Given the description of an element on the screen output the (x, y) to click on. 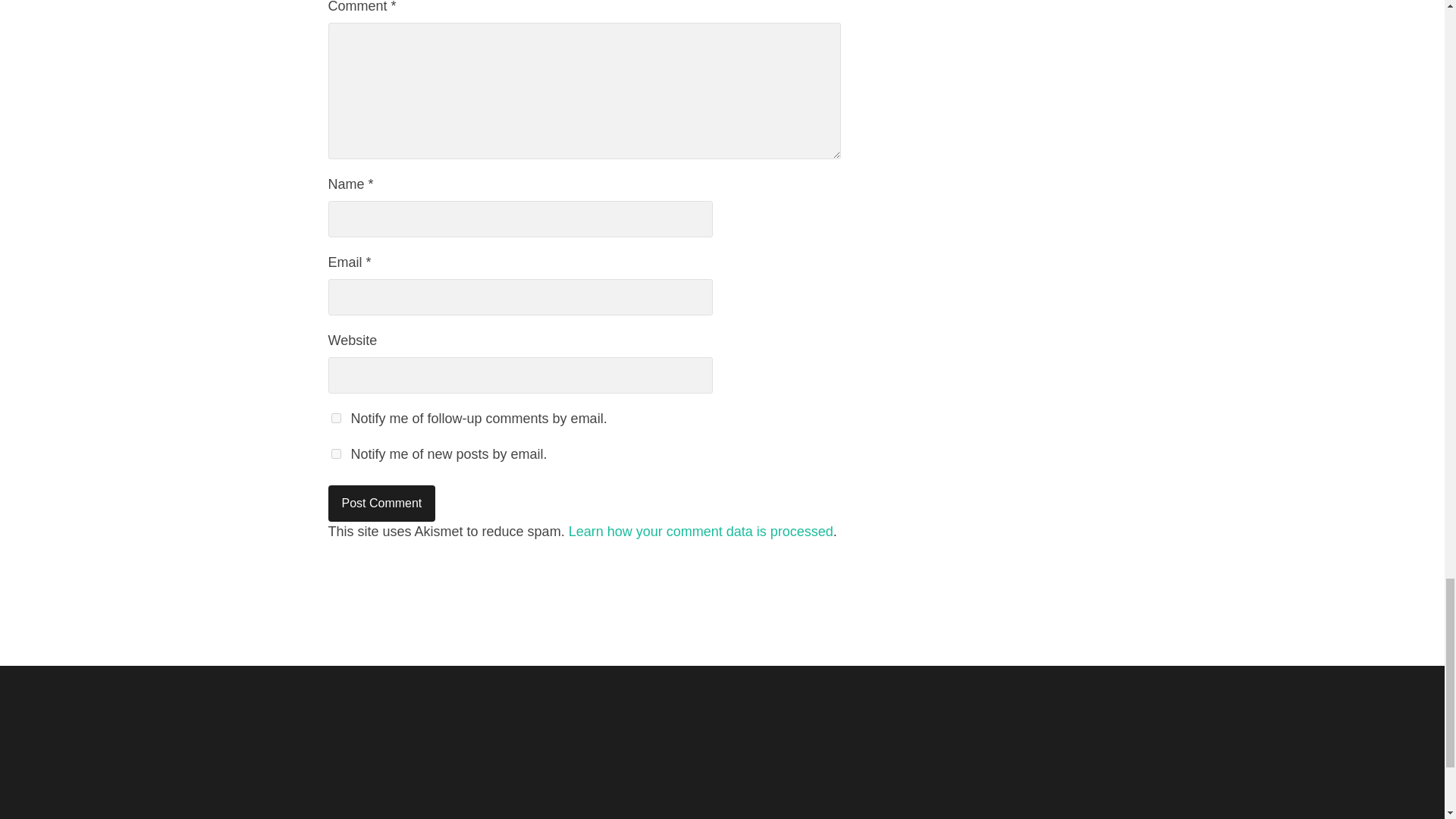
Post Comment (381, 503)
subscribe (335, 453)
subscribe (335, 418)
Learn how your comment data is processed (700, 531)
Post Comment (381, 503)
